Given the description of an element on the screen output the (x, y) to click on. 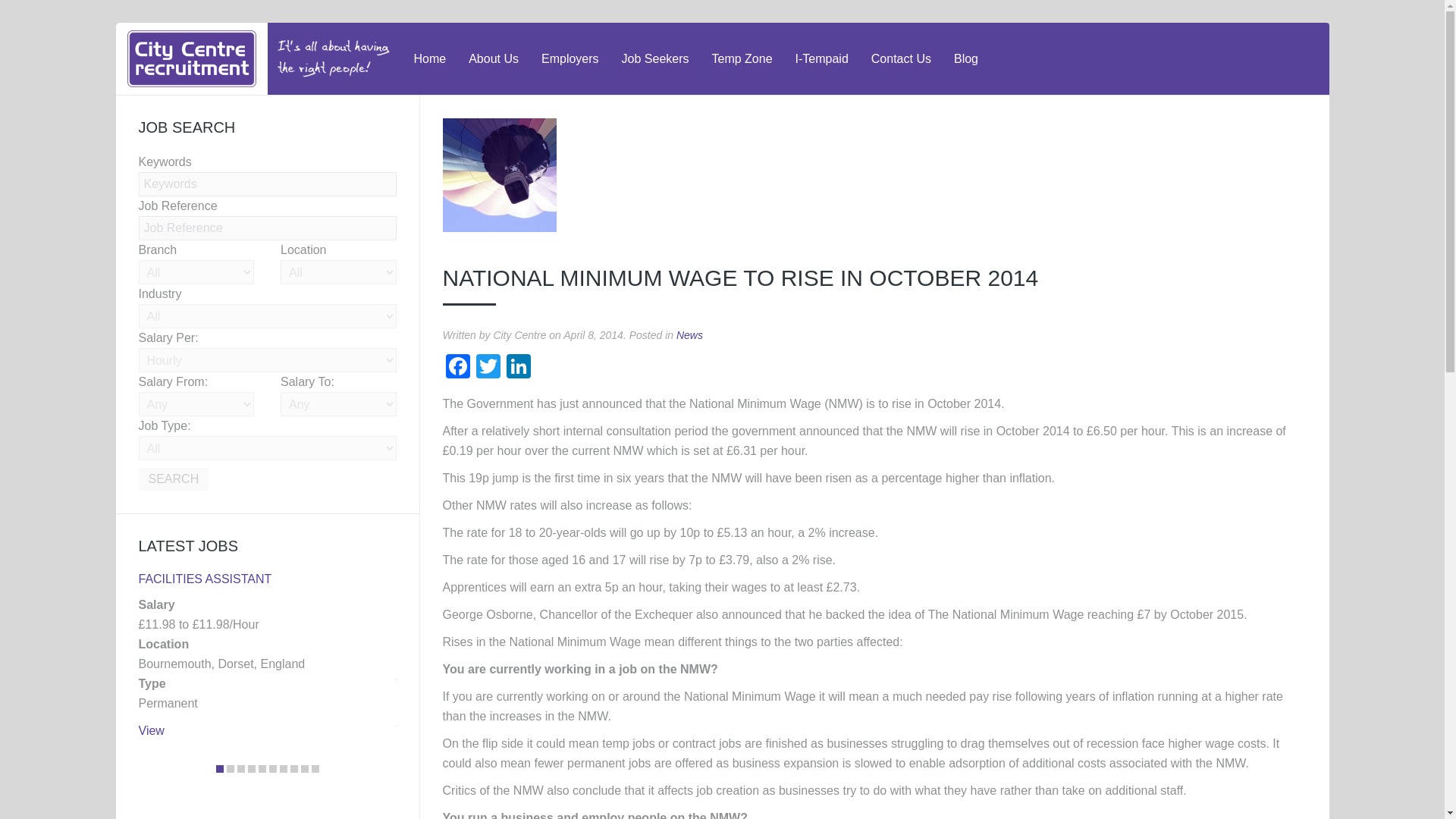
Facilities Assistant (204, 578)
Search (173, 478)
Facebook (457, 367)
Facilities Assistant (150, 730)
Twitter (488, 367)
LinkedIn (518, 367)
Job Seekers (654, 58)
Facebook (457, 367)
Twitter (488, 367)
LinkedIn (518, 367)
News (690, 335)
